Given the description of an element on the screen output the (x, y) to click on. 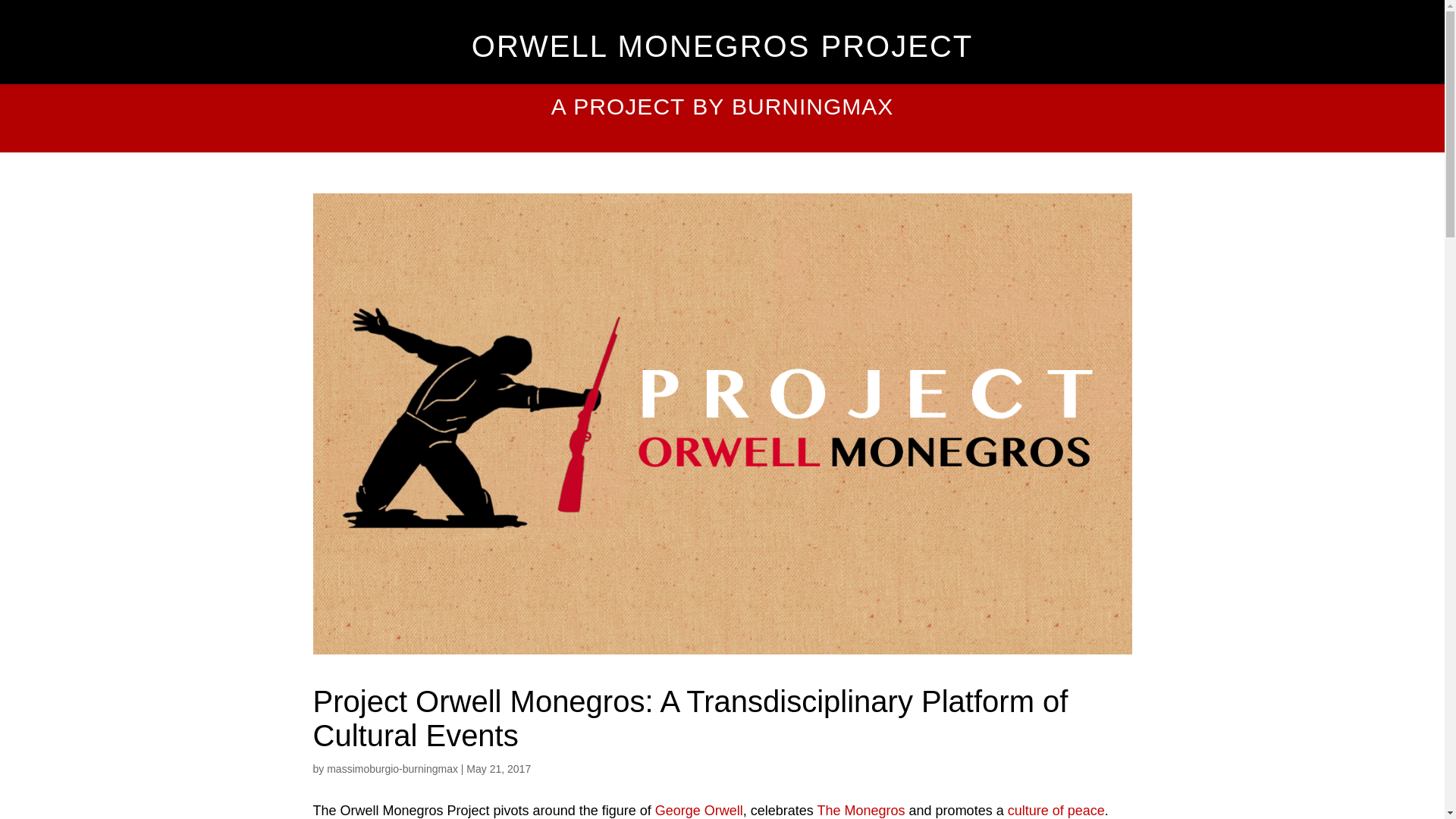
culture of peace (1056, 810)
Posts by massimoburgio-burningmax (392, 768)
George Orwell (698, 810)
The Monegros (860, 810)
massimoburgio-burningmax (392, 768)
